Given the description of an element on the screen output the (x, y) to click on. 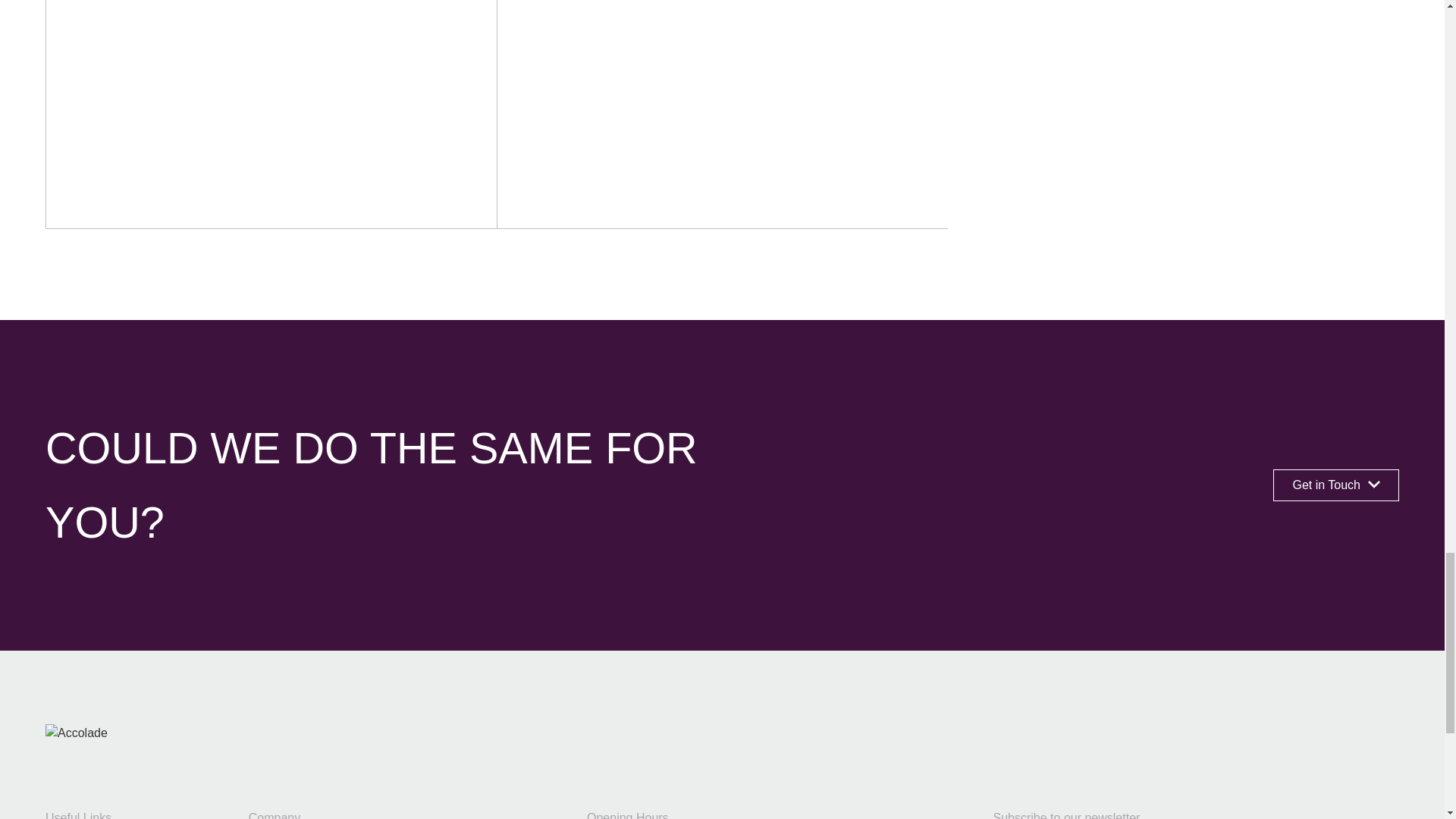
FCE35856-30EA-4C37-A59F-CEA347665716 (1335, 485)
